Given the description of an element on the screen output the (x, y) to click on. 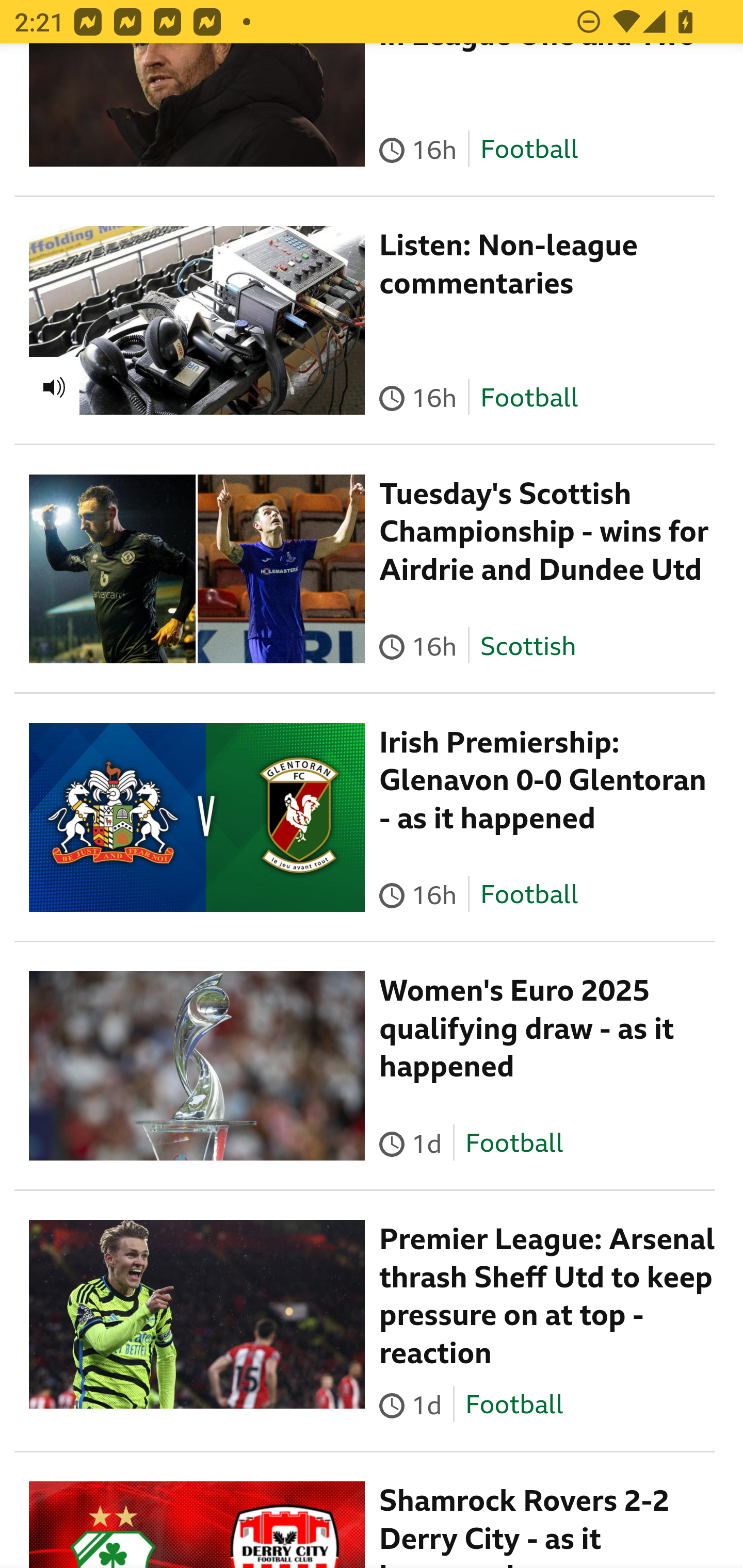
Football (528, 149)
Listen: Non-league commentaries (508, 264)
Football (528, 397)
Scottish (528, 645)
Football (528, 895)
Women's Euro 2025 qualifying draw - as it happened (526, 1028)
Football (513, 1143)
Football (513, 1405)
Shamrock Rovers 2-2 Derry City - as it happened (523, 1525)
